Given the description of an element on the screen output the (x, y) to click on. 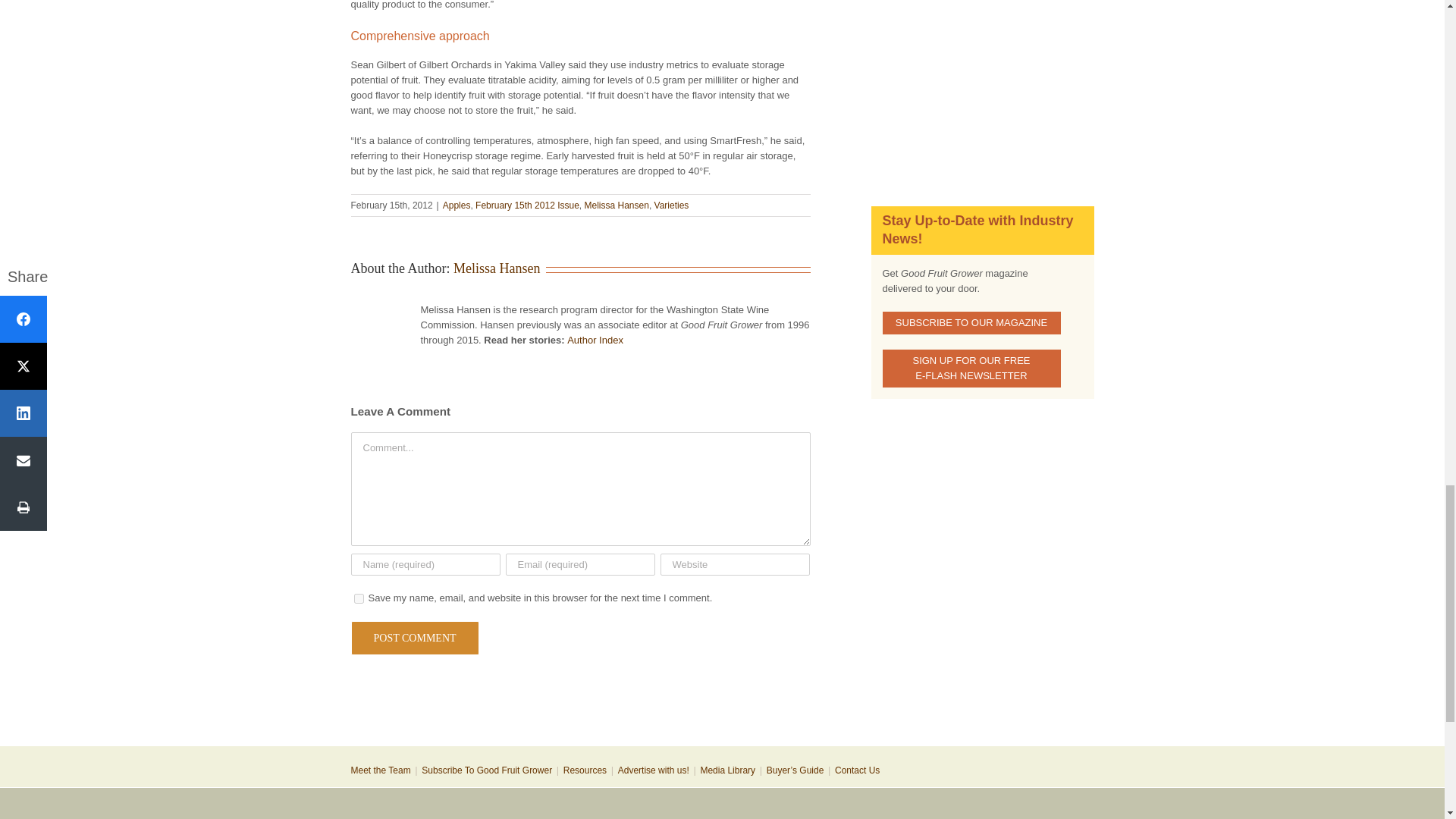
Post Comment (414, 637)
Posts by Melissa Hansen (496, 268)
yes (357, 598)
